Given the description of an element on the screen output the (x, y) to click on. 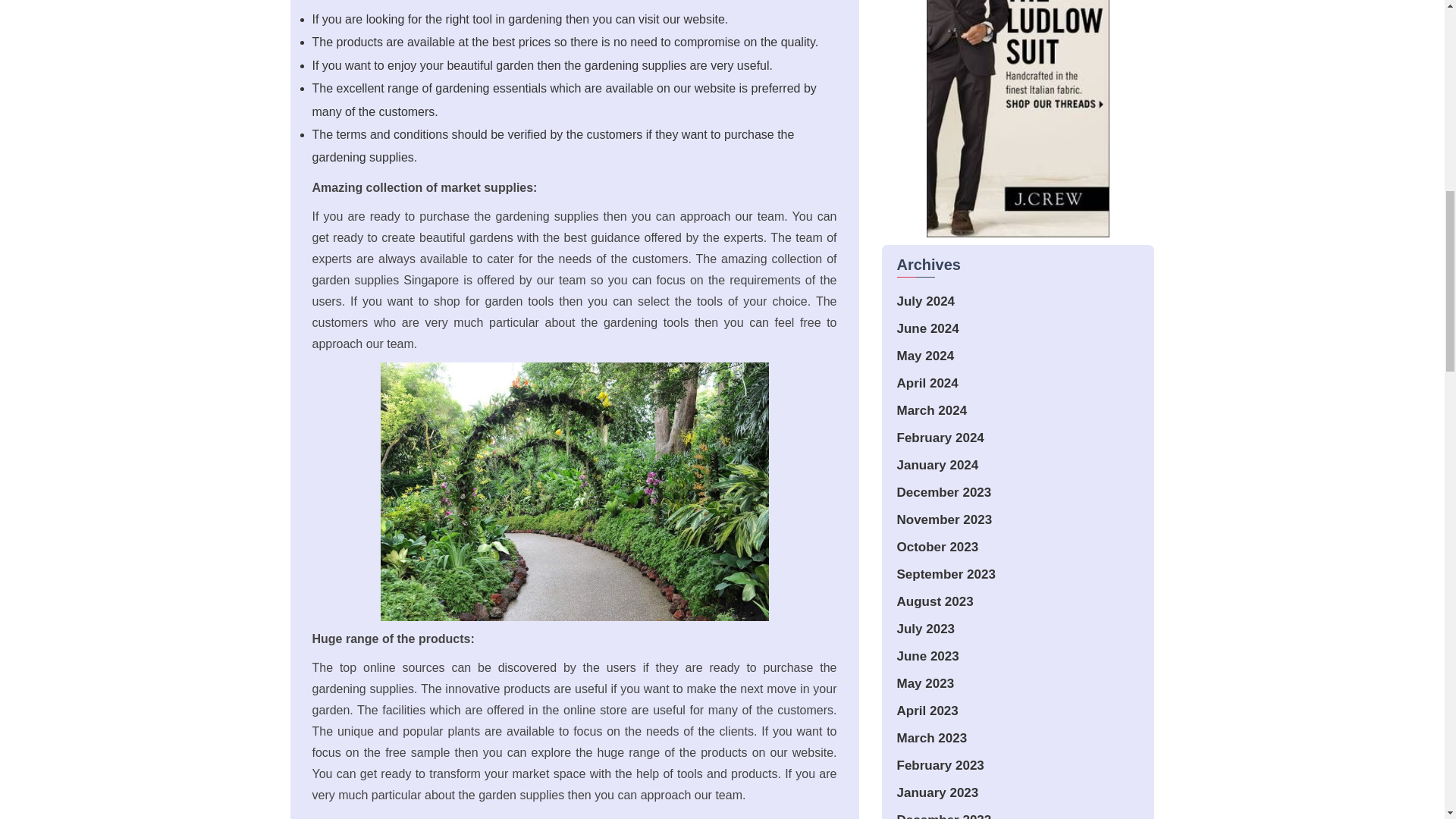
June 2023 (927, 656)
December 2023 (943, 492)
August 2023 (934, 601)
July 2023 (925, 628)
March 2024 (931, 410)
November 2023 (943, 519)
February 2023 (940, 765)
July 2024 (925, 301)
December 2022 (943, 816)
April 2023 (927, 710)
January 2024 (937, 464)
May 2024 (924, 355)
September 2023 (945, 574)
June 2024 (927, 328)
October 2023 (937, 546)
